Given the description of an element on the screen output the (x, y) to click on. 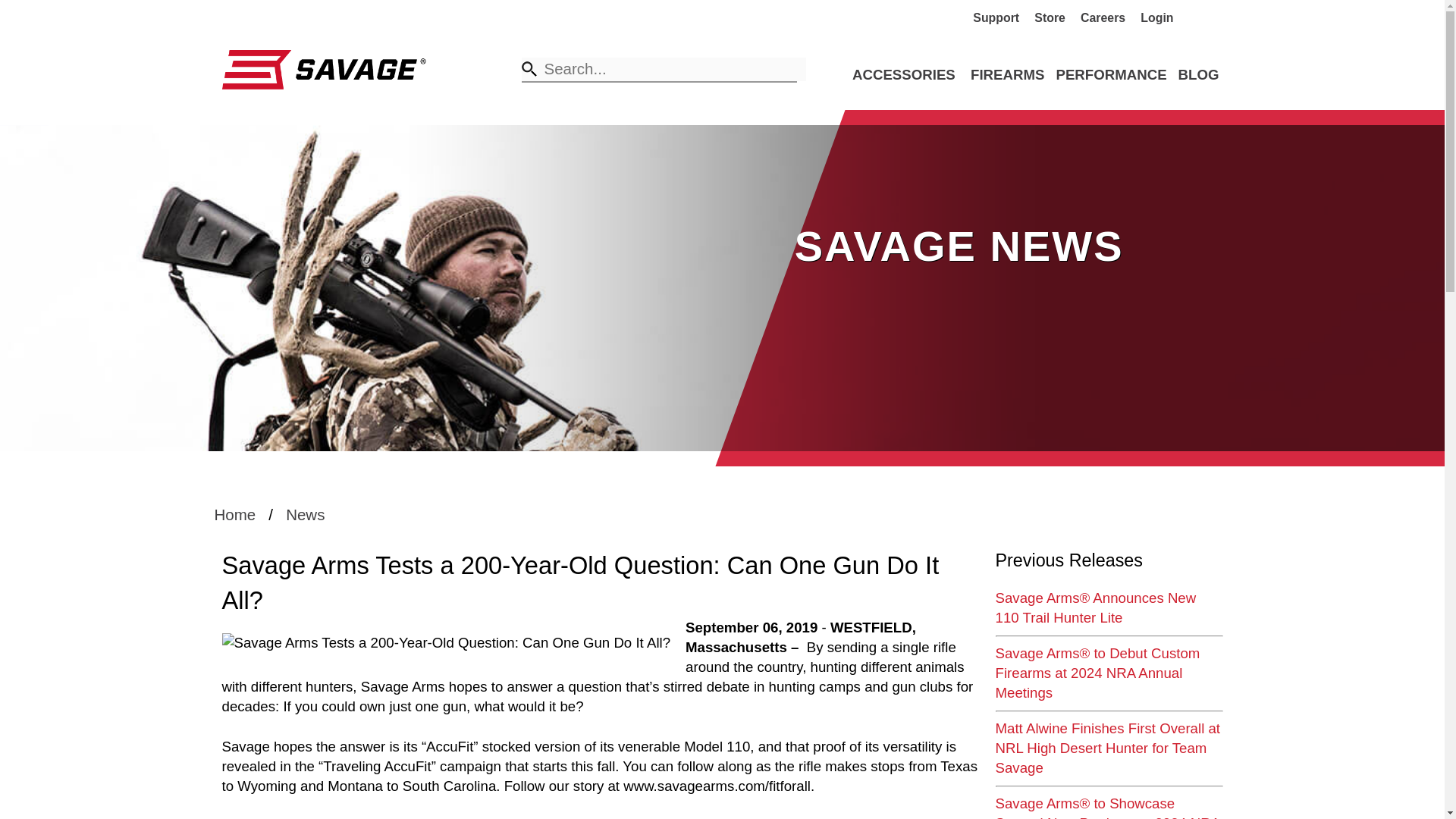
Login (1162, 17)
The Savage Performance (1110, 74)
Careers (1108, 17)
Support (1001, 17)
Accessories (903, 74)
FIREARMS (1007, 74)
Home (235, 514)
News (304, 514)
PERFORMANCE (1110, 74)
Store (1055, 17)
ACCESSORIES (903, 74)
Savage Blog (1198, 74)
Support (1001, 17)
News (304, 514)
